Given the description of an element on the screen output the (x, y) to click on. 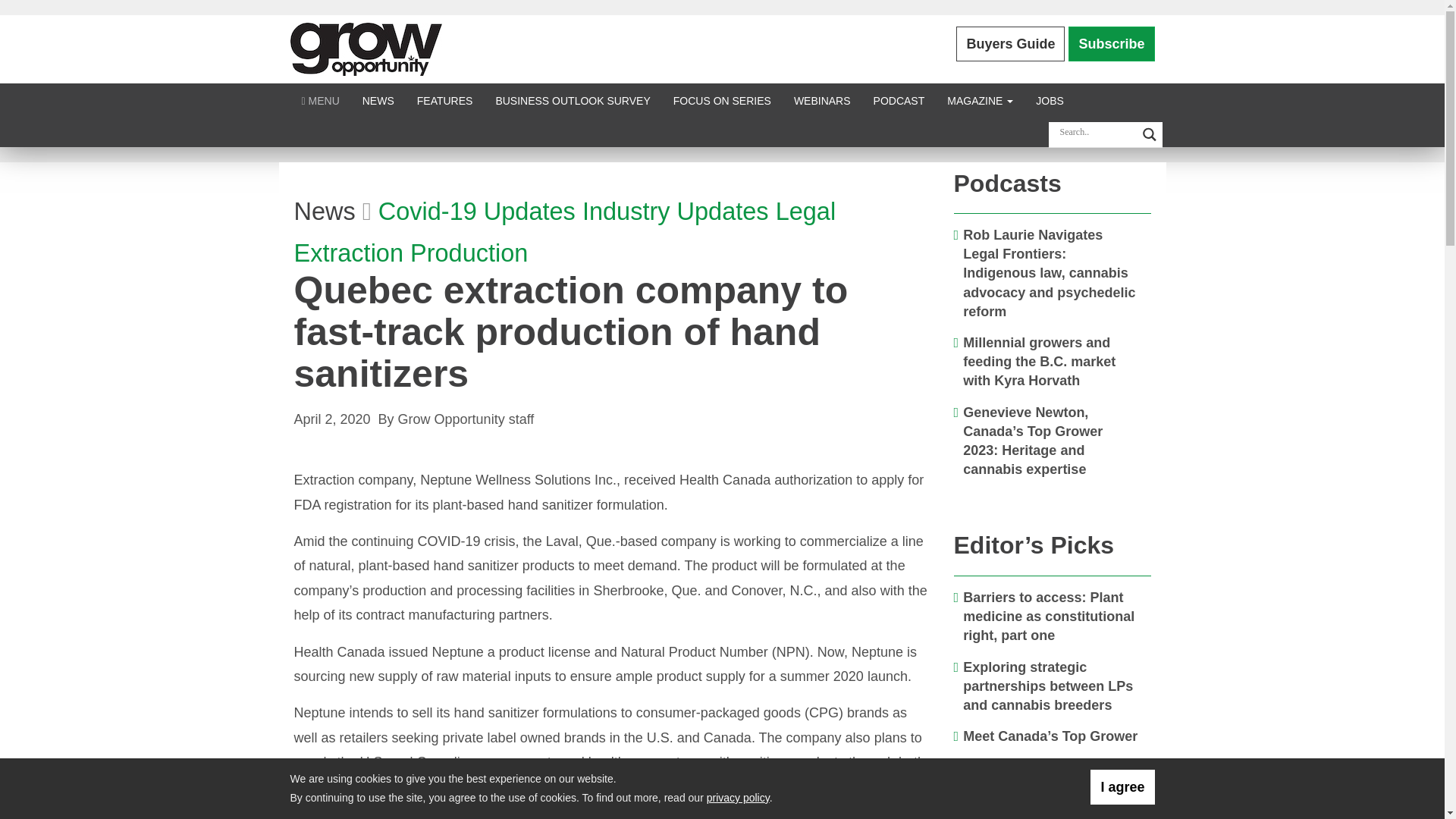
Subscribe (1111, 43)
Grow Opportunity (365, 48)
Click to show site navigation (319, 100)
MENU (319, 100)
PODCAST (898, 100)
FOCUS ON SERIES (722, 100)
Subscribe (1111, 43)
BUSINESS OUTLOOK SURVEY (572, 100)
FEATURES (445, 100)
NEWS (378, 100)
JOBS (1050, 100)
WEBINARS (822, 100)
Buyers Guide (1010, 43)
Buyers Guide (1010, 43)
MAGAZINE (980, 100)
